Given the description of an element on the screen output the (x, y) to click on. 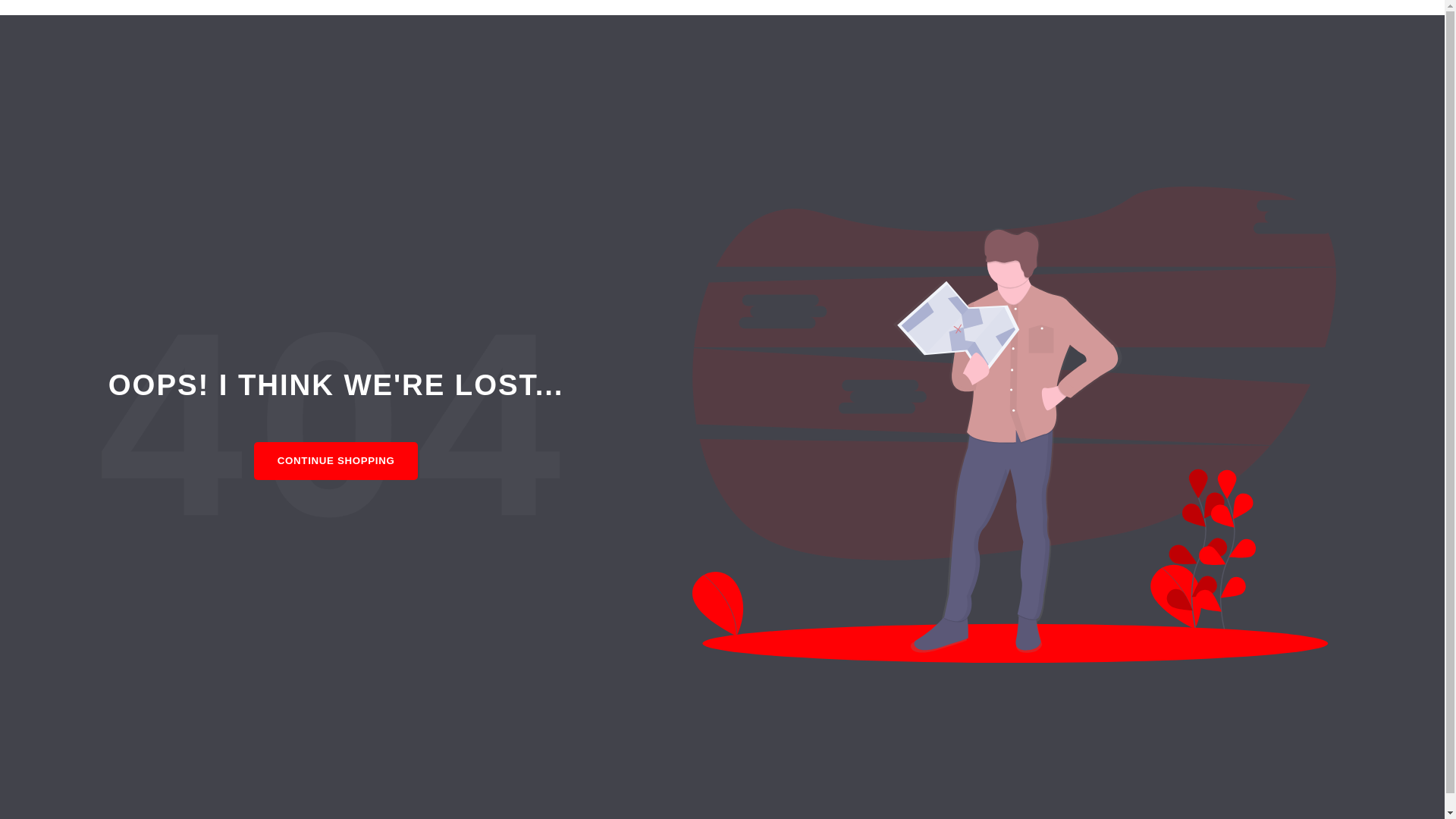
CONTINUE SHOPPING (336, 460)
